Given the description of an element on the screen output the (x, y) to click on. 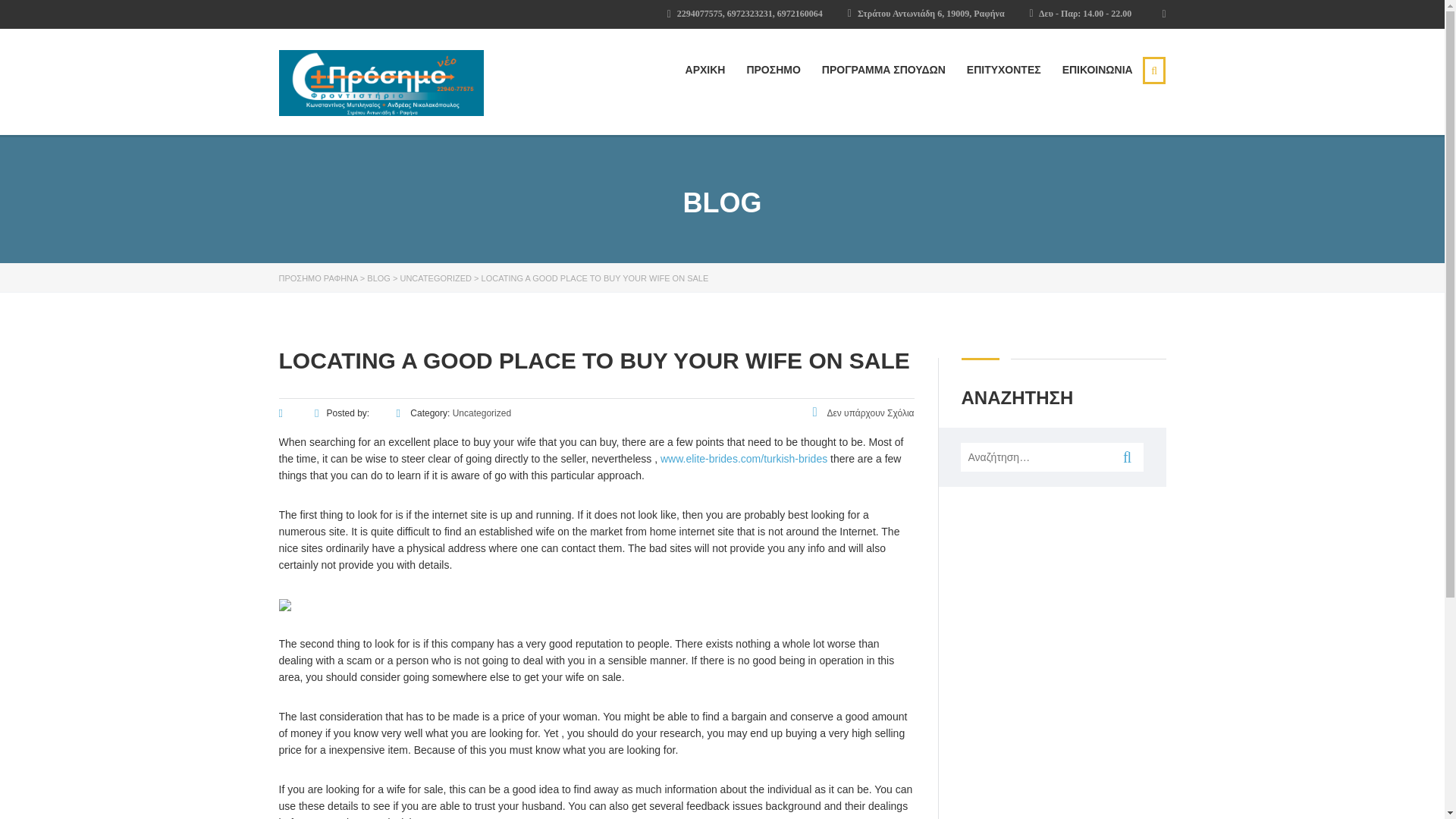
Go to Blog. (378, 277)
